Given the description of an element on the screen output the (x, y) to click on. 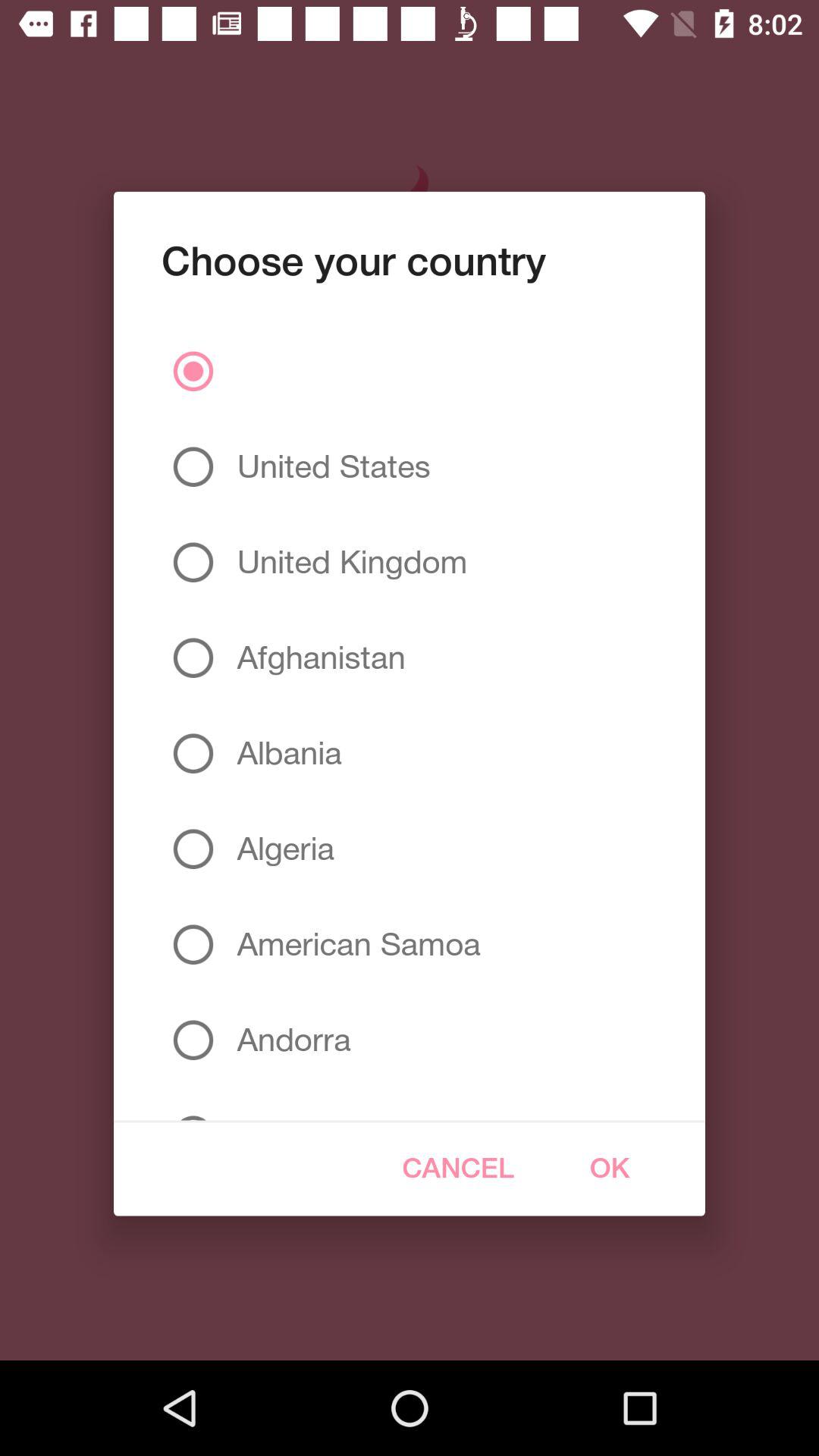
tap angola (280, 1104)
